Given the description of an element on the screen output the (x, y) to click on. 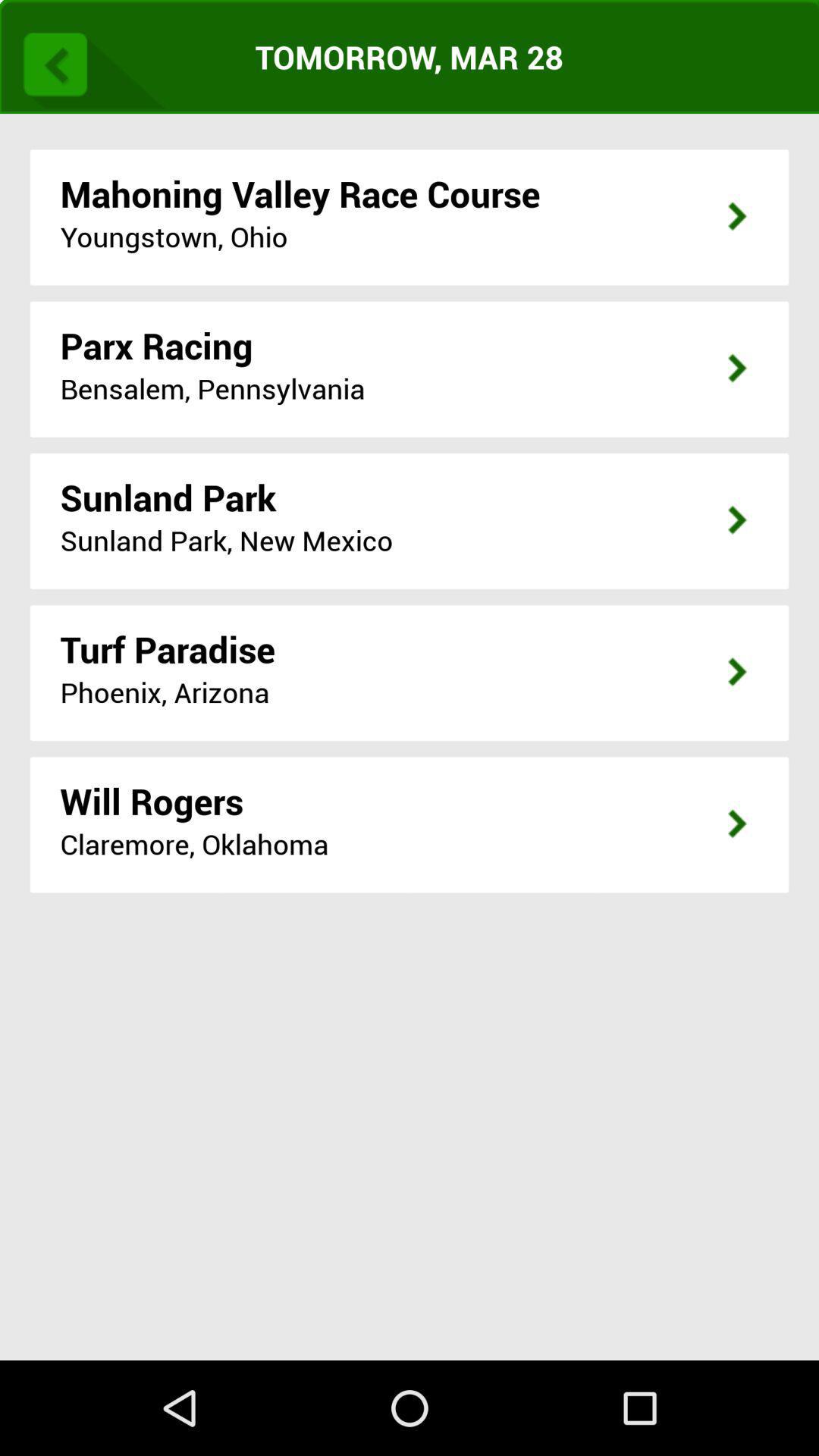
launch item at the bottom (409, 1144)
